Given the description of an element on the screen output the (x, y) to click on. 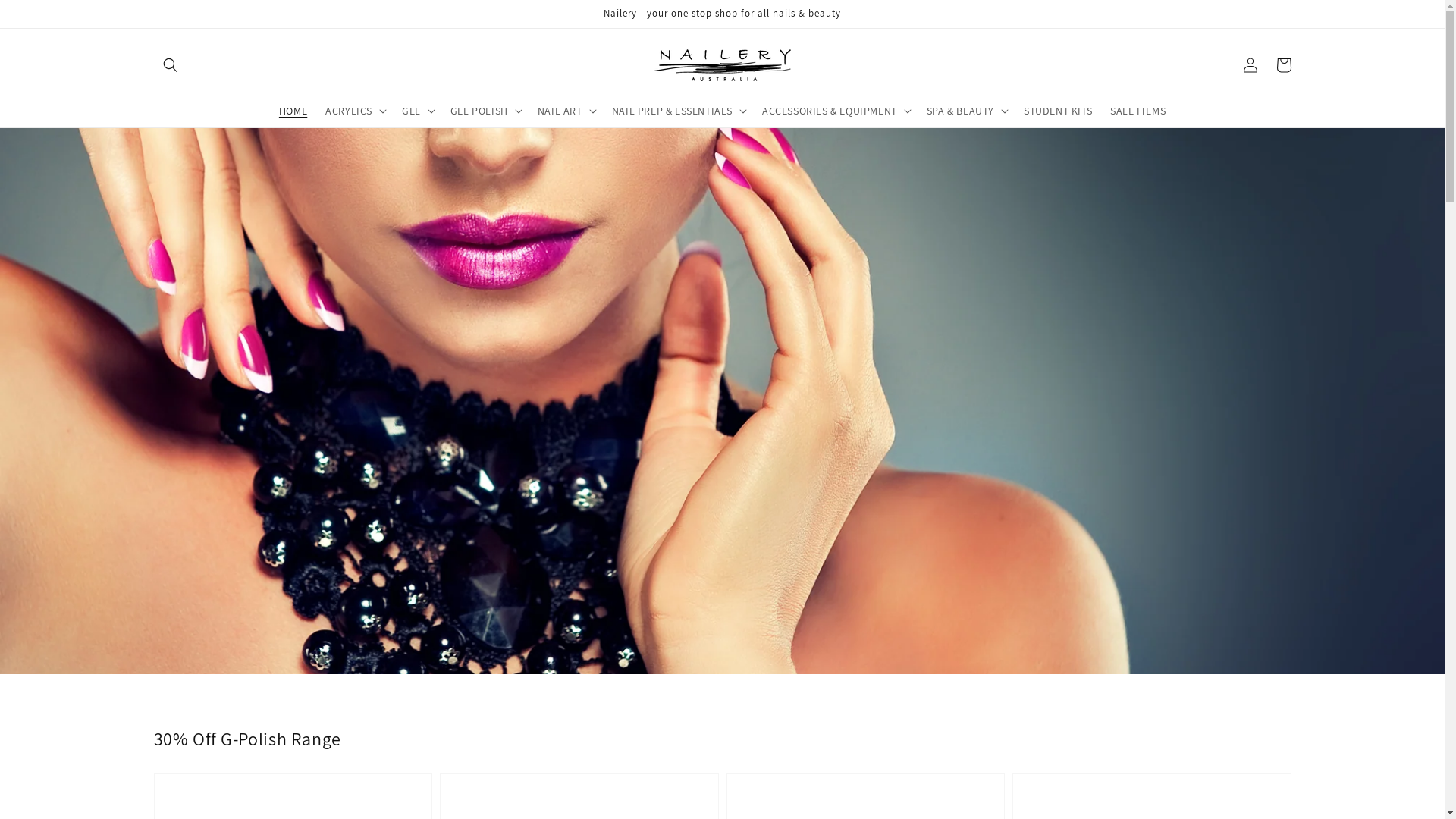
STUDENT KITS Element type: text (1057, 110)
HOME Element type: text (292, 110)
SALE ITEMS Element type: text (1137, 110)
Cart Element type: text (1282, 64)
Log in Element type: text (1249, 64)
